Given the description of an element on the screen output the (x, y) to click on. 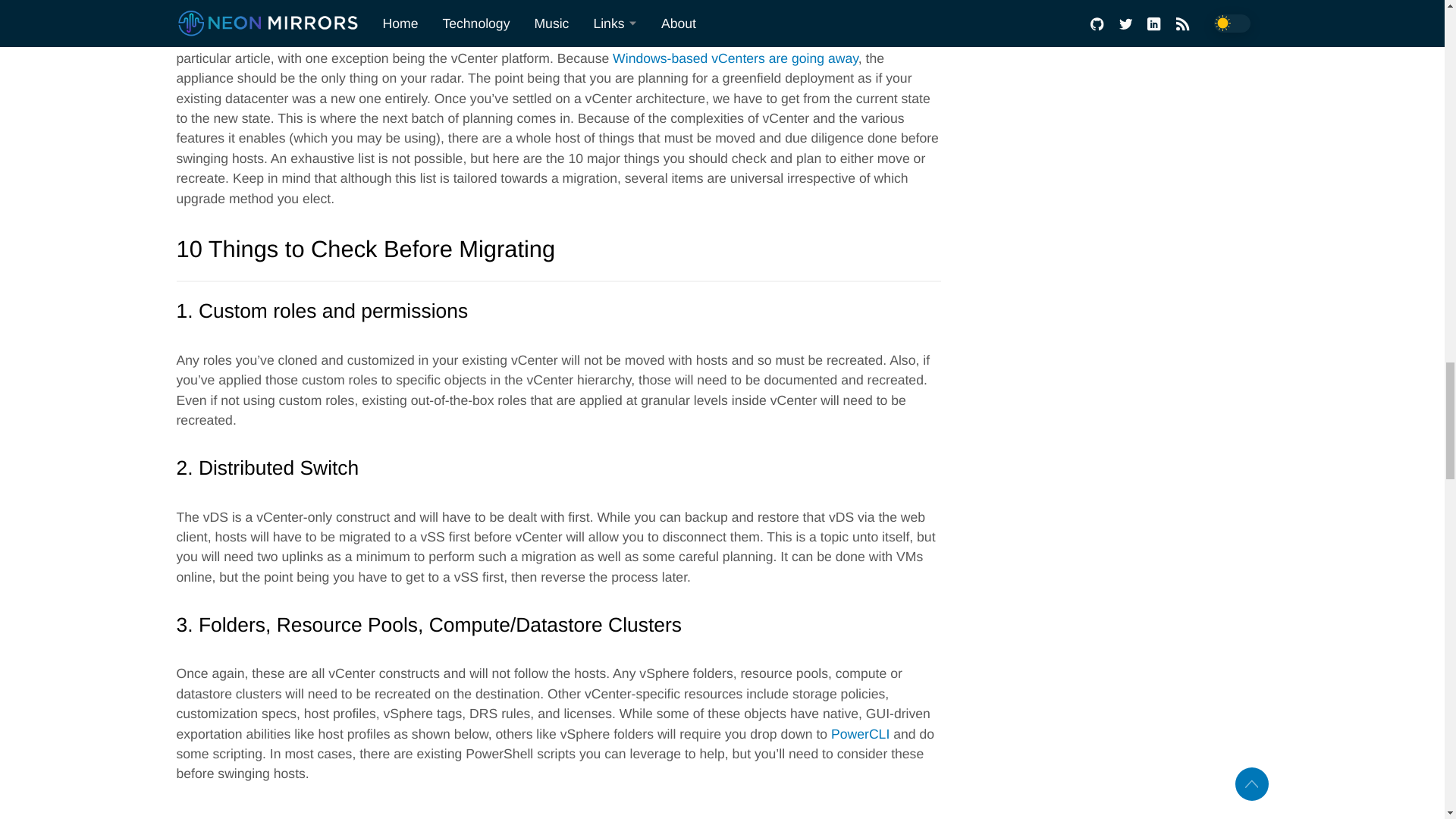
PowerCLI (860, 734)
Windows-based vCenters are going away (735, 58)
